Given the description of an element on the screen output the (x, y) to click on. 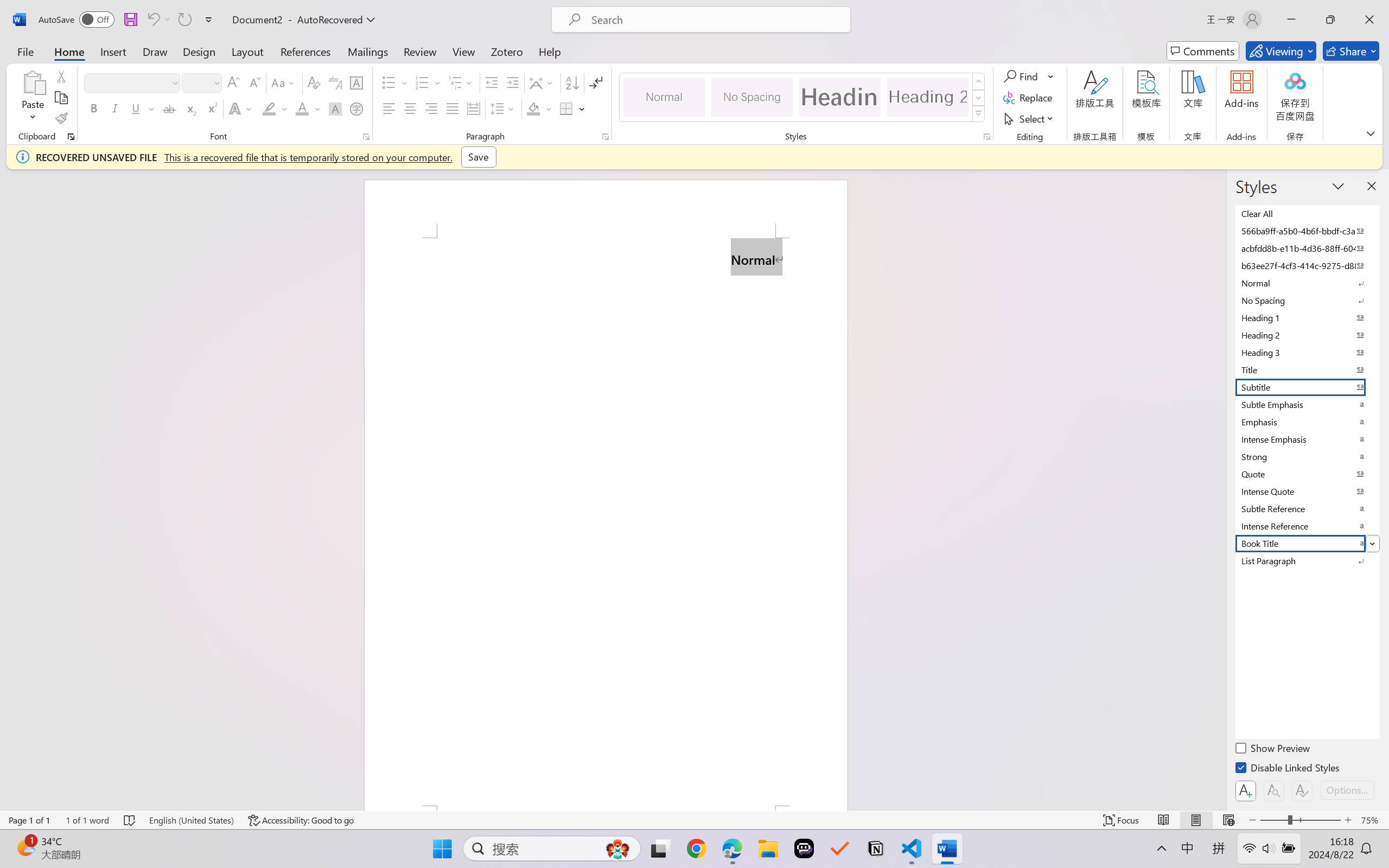
Class: NetUIButton (1301, 790)
Sort... (571, 82)
Task Pane Options (1338, 185)
Align Right (431, 108)
Clear Formatting (313, 82)
Subtitle (1306, 386)
Strikethrough (169, 108)
Book Title (1306, 543)
Shrink Font (253, 82)
